Given the description of an element on the screen output the (x, y) to click on. 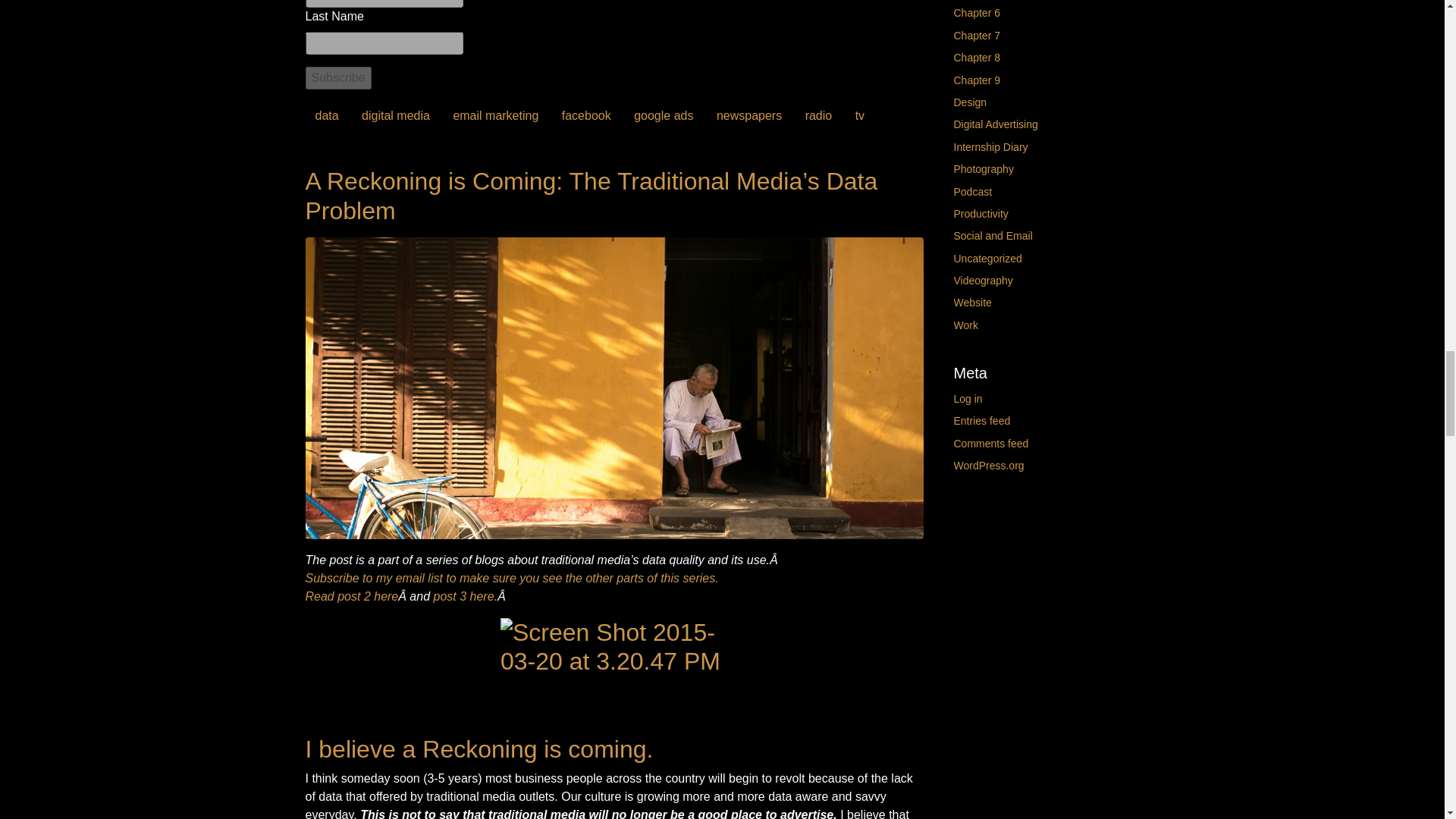
A Reckoning is Coming: Good Uses for Traditional Media (465, 595)
Subscribe (337, 77)
Subscribe (510, 577)
